Given the description of an element on the screen output the (x, y) to click on. 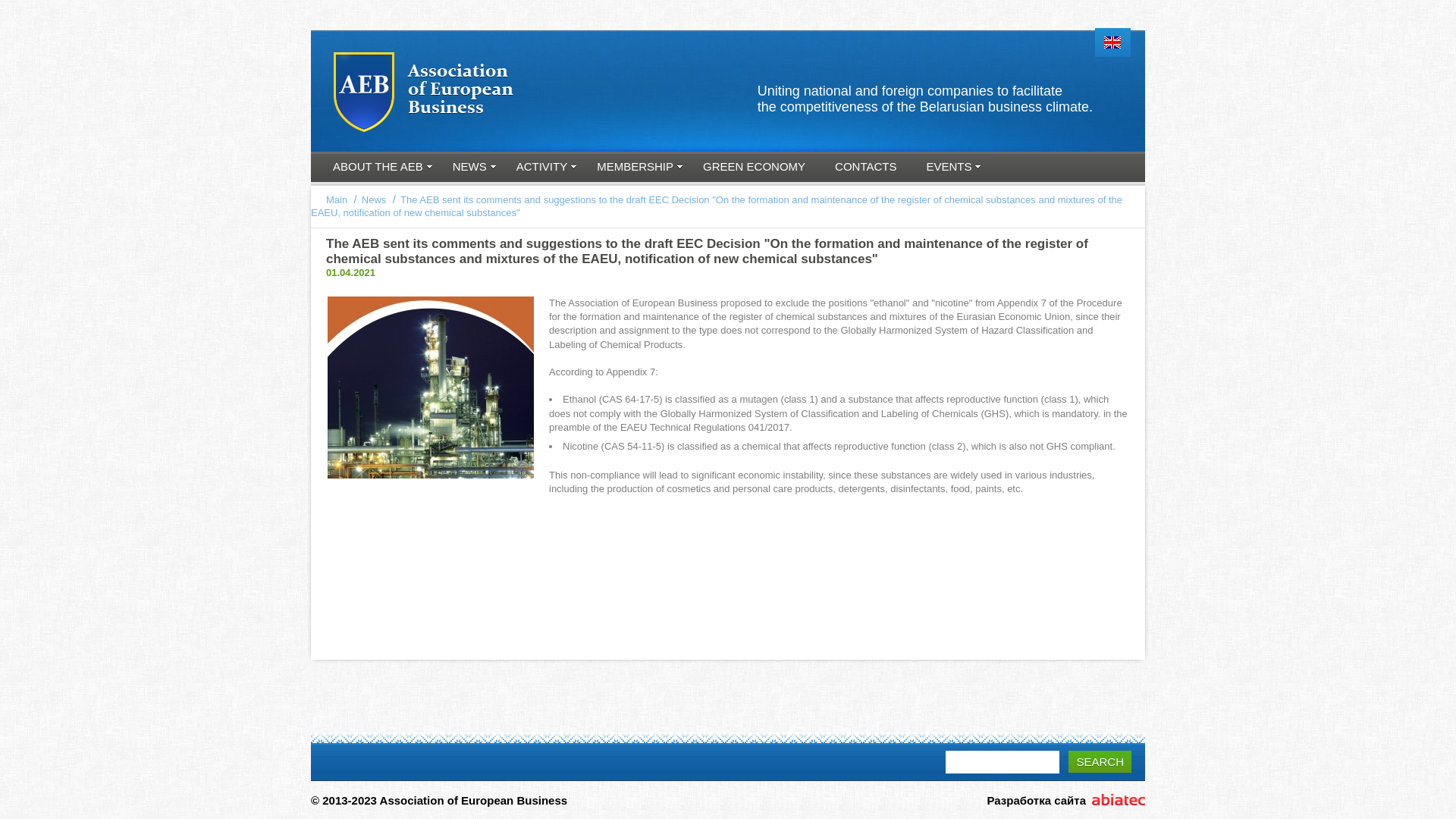
EVENTS Element type: text (949, 168)
ACTIVITY Element type: text (542, 168)
CONTACTS Element type: text (866, 168)
ABOUT THE AEB Element type: text (379, 168)
NEWS Element type: text (470, 168)
News Element type: text (373, 199)
SEARCH Element type: text (1099, 761)
GREEN ECONOMY Element type: text (755, 168)
Main Element type: text (336, 199)
MEMBERSHIP Element type: text (636, 168)
